Given the description of an element on the screen output the (x, y) to click on. 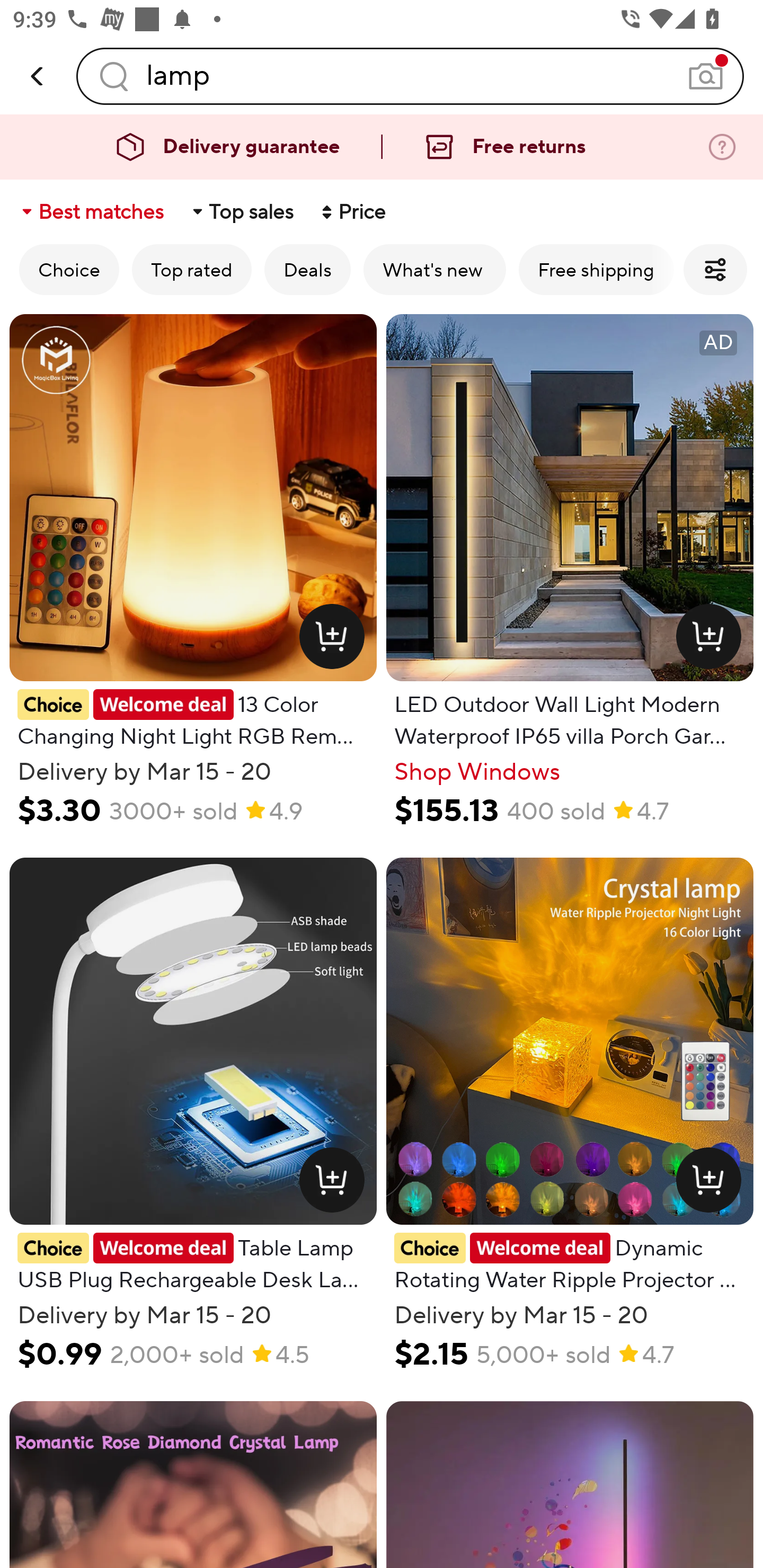
back (38, 75)
lamp Search query (409, 76)
lamp Search query (409, 76)
Best matches (91, 212)
Top sales (241, 212)
Price (352, 212)
Choice (69, 269)
Top rated (191, 269)
Deals (307, 269)
What's new  (434, 269)
Free shipping (595, 269)
